Given the description of an element on the screen output the (x, y) to click on. 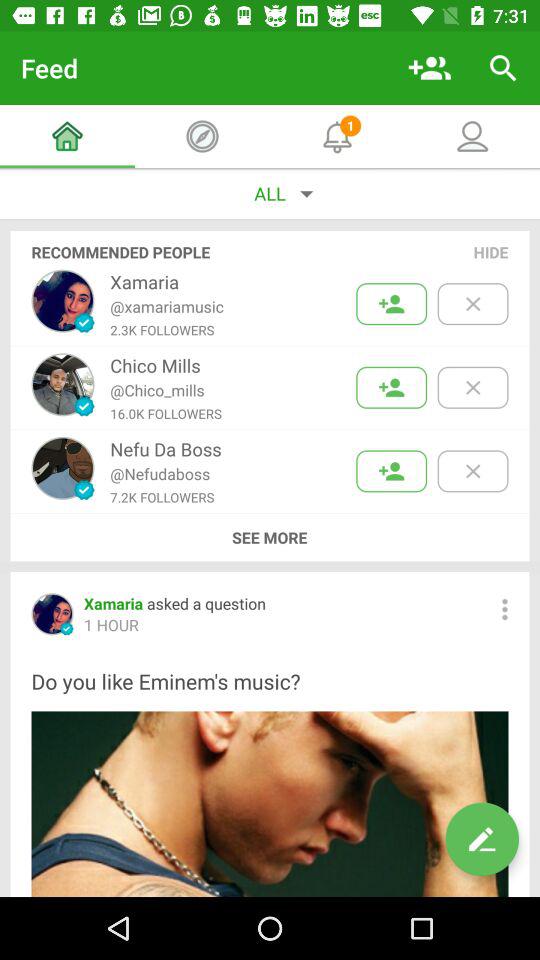
flip to the hide (491, 251)
